Given the description of an element on the screen output the (x, y) to click on. 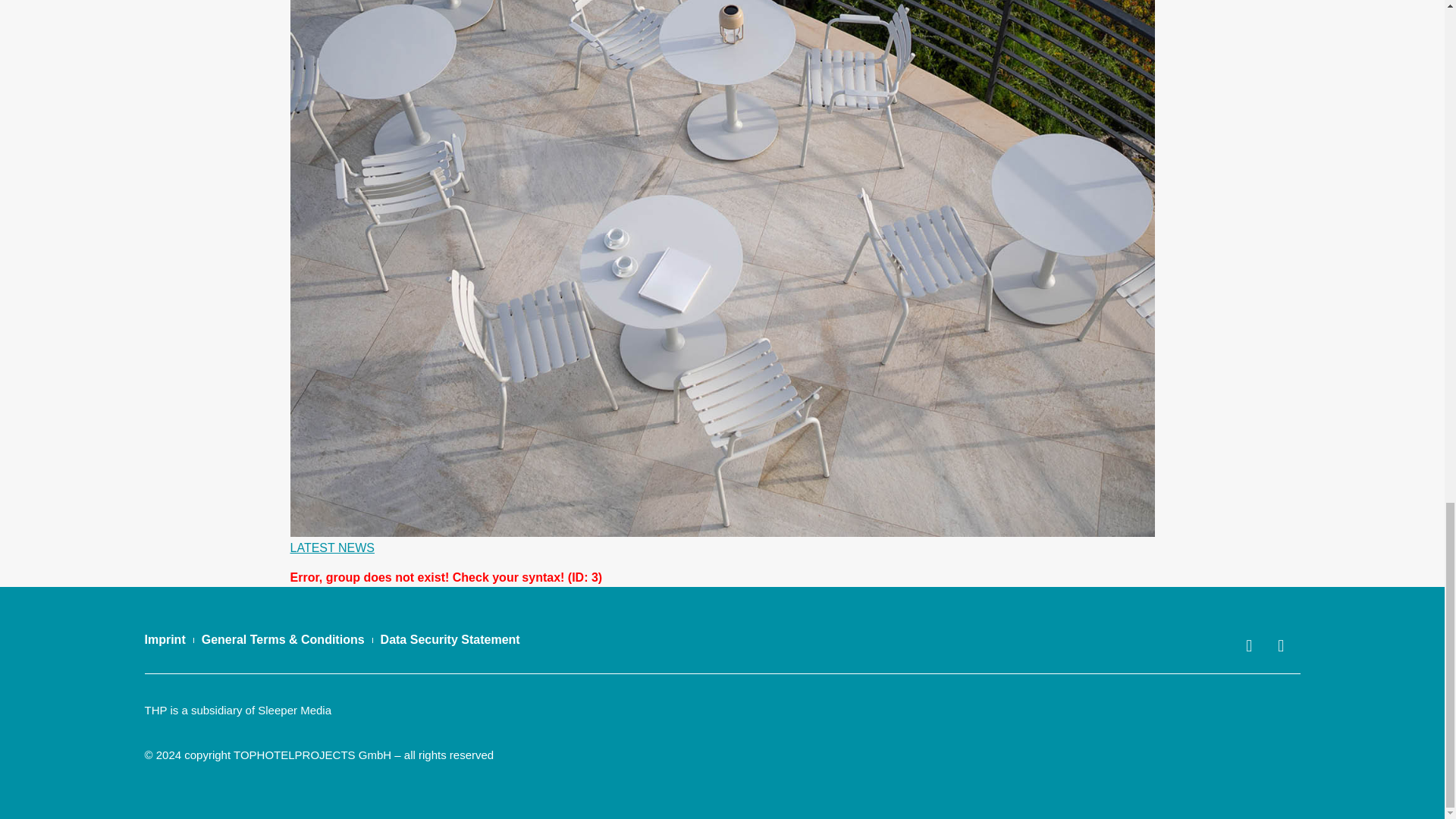
Imprint (164, 639)
Sleeper Media (294, 709)
Data Security Statement (449, 639)
LATEST NEWS (331, 547)
